Given the description of an element on the screen output the (x, y) to click on. 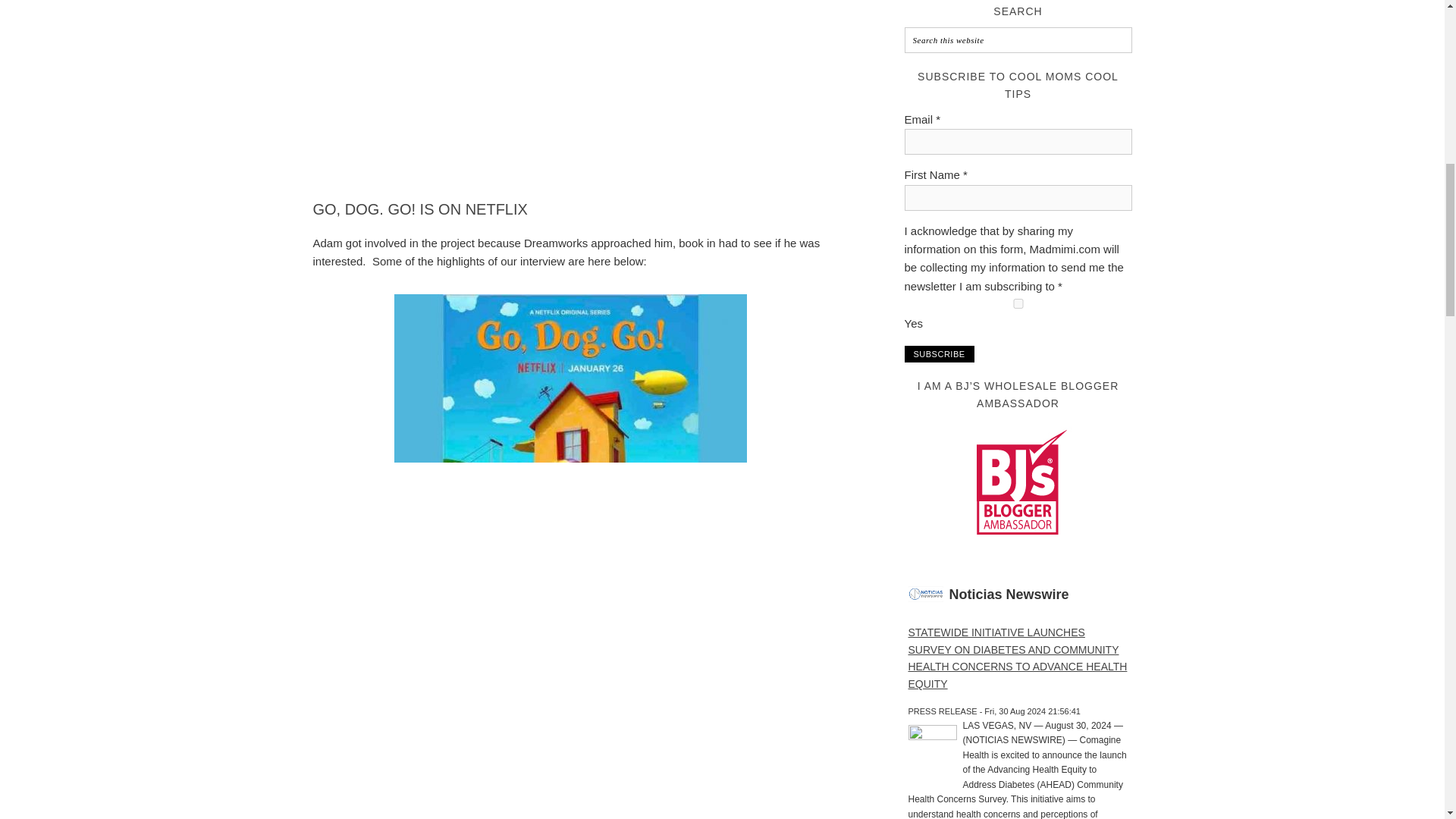
Yes (1017, 303)
Subscribe (939, 353)
